Given the description of an element on the screen output the (x, y) to click on. 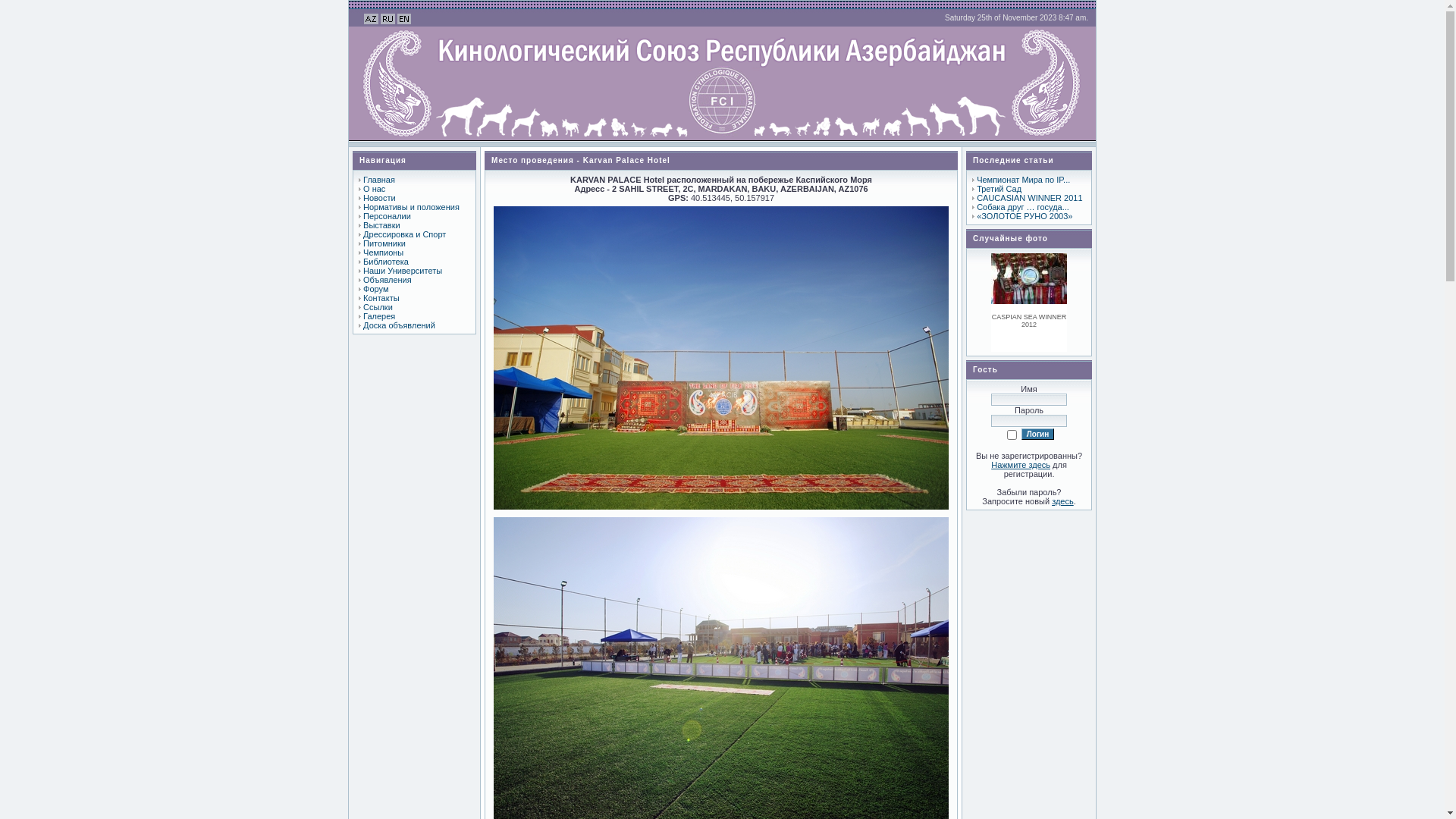
CAUCASIAN WINNER 2011 Element type: text (1029, 197)
